Given the description of an element on the screen output the (x, y) to click on. 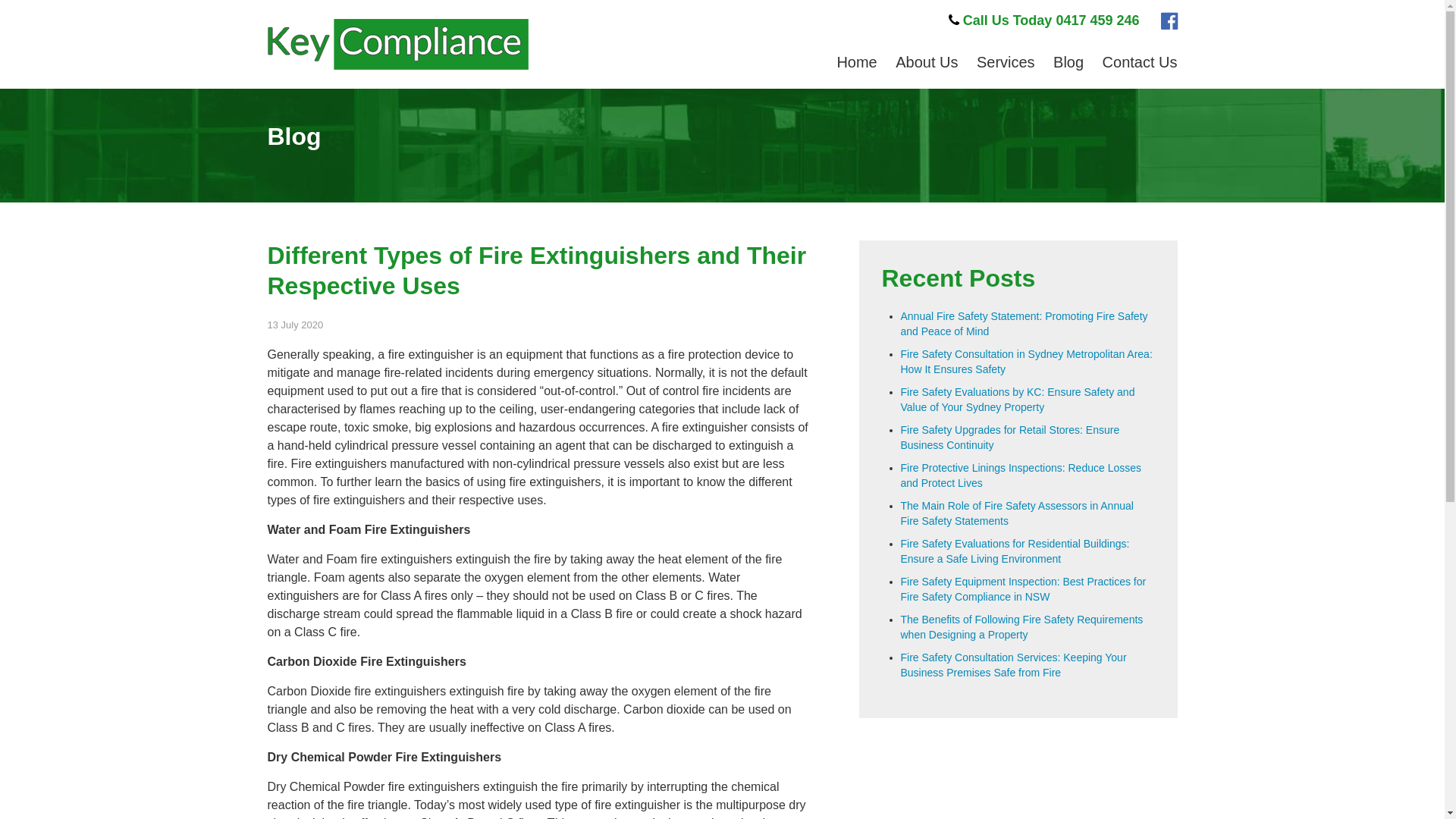
Blog Element type: text (1068, 62)
Contact Us Element type: text (1139, 62)
Services Element type: text (1005, 62)
About Us Element type: text (926, 62)
Home Element type: text (856, 62)
